Given the description of an element on the screen output the (x, y) to click on. 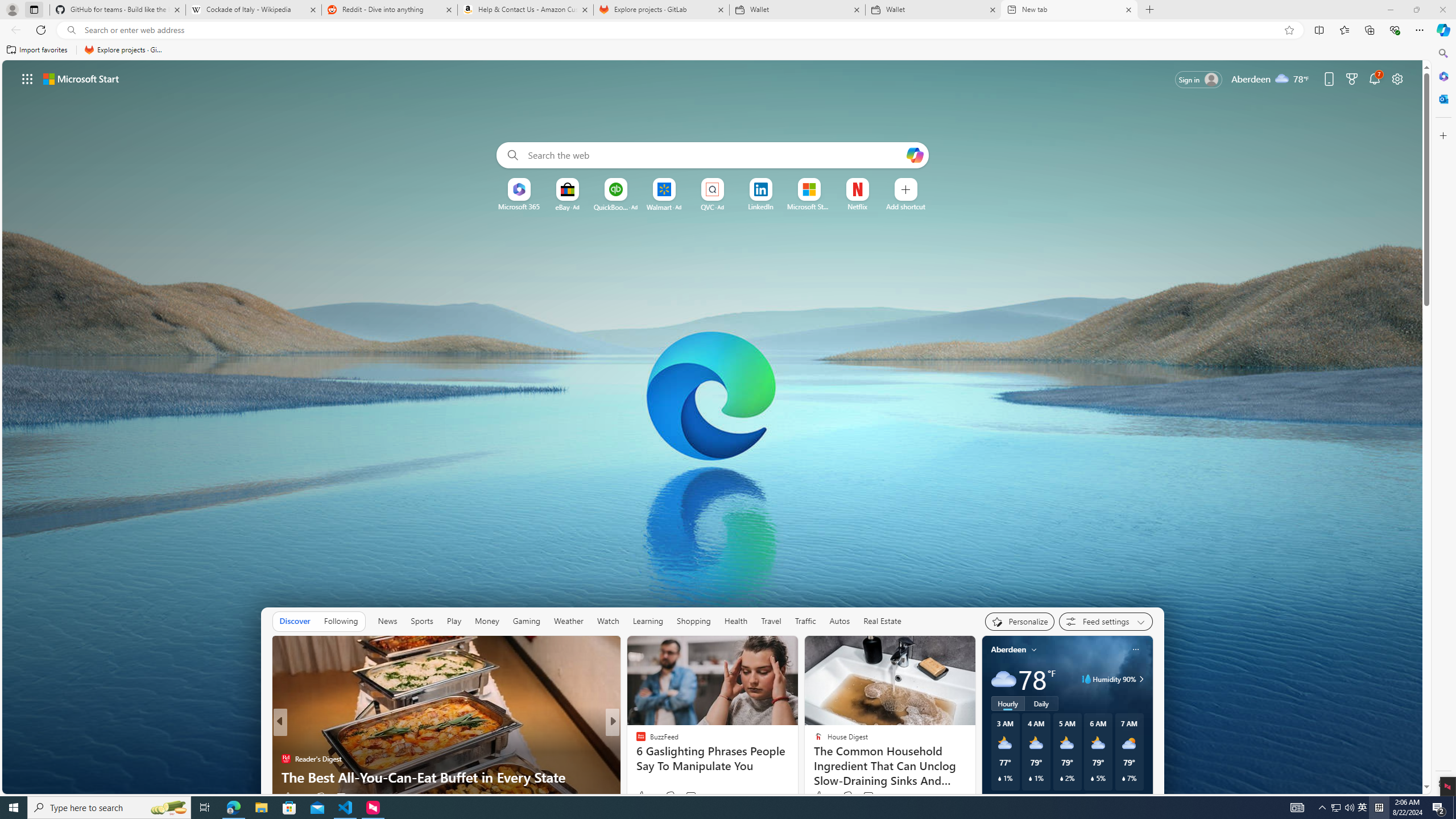
Aberdeen (1008, 649)
Vox.com (1362, 807)
App bar (635, 740)
Autos (728, 29)
Savvy Dime (839, 621)
Show desktop (635, 740)
Import favorites (1454, 807)
Cloudy (36, 49)
Travel (1003, 678)
Microsoft Store (770, 621)
File Explorer (289, 807)
